Given the description of an element on the screen output the (x, y) to click on. 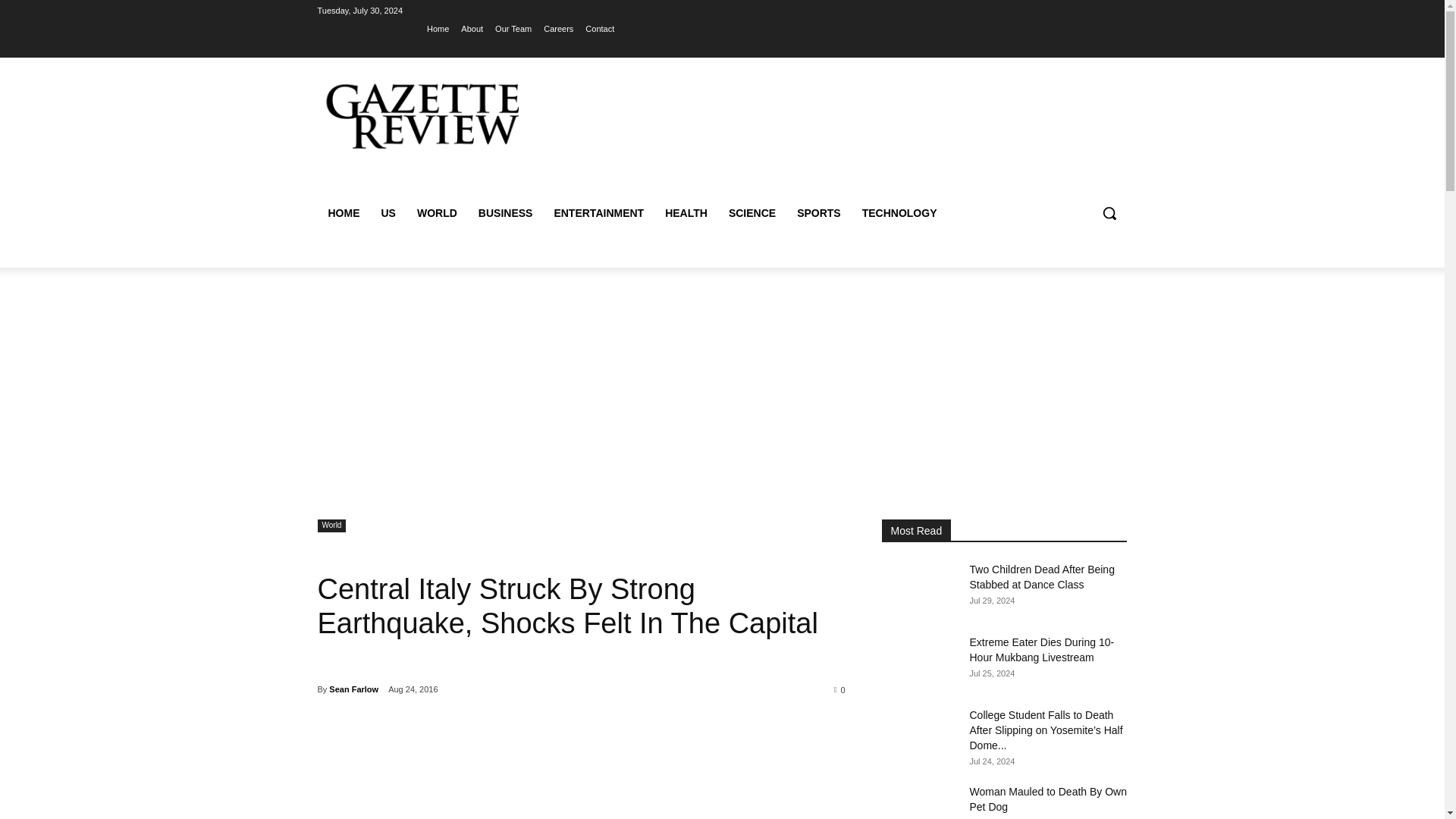
BUSINESS (505, 212)
US (387, 212)
About (472, 28)
HEALTH (685, 212)
ENTERTAINMENT (598, 212)
SCIENCE (751, 212)
World (331, 525)
HOME (343, 212)
SPORTS (818, 212)
Our Team (513, 28)
WORLD (436, 212)
Contact (599, 28)
TECHNOLOGY (899, 212)
Careers (558, 28)
Sean Farlow (353, 689)
